Given the description of an element on the screen output the (x, y) to click on. 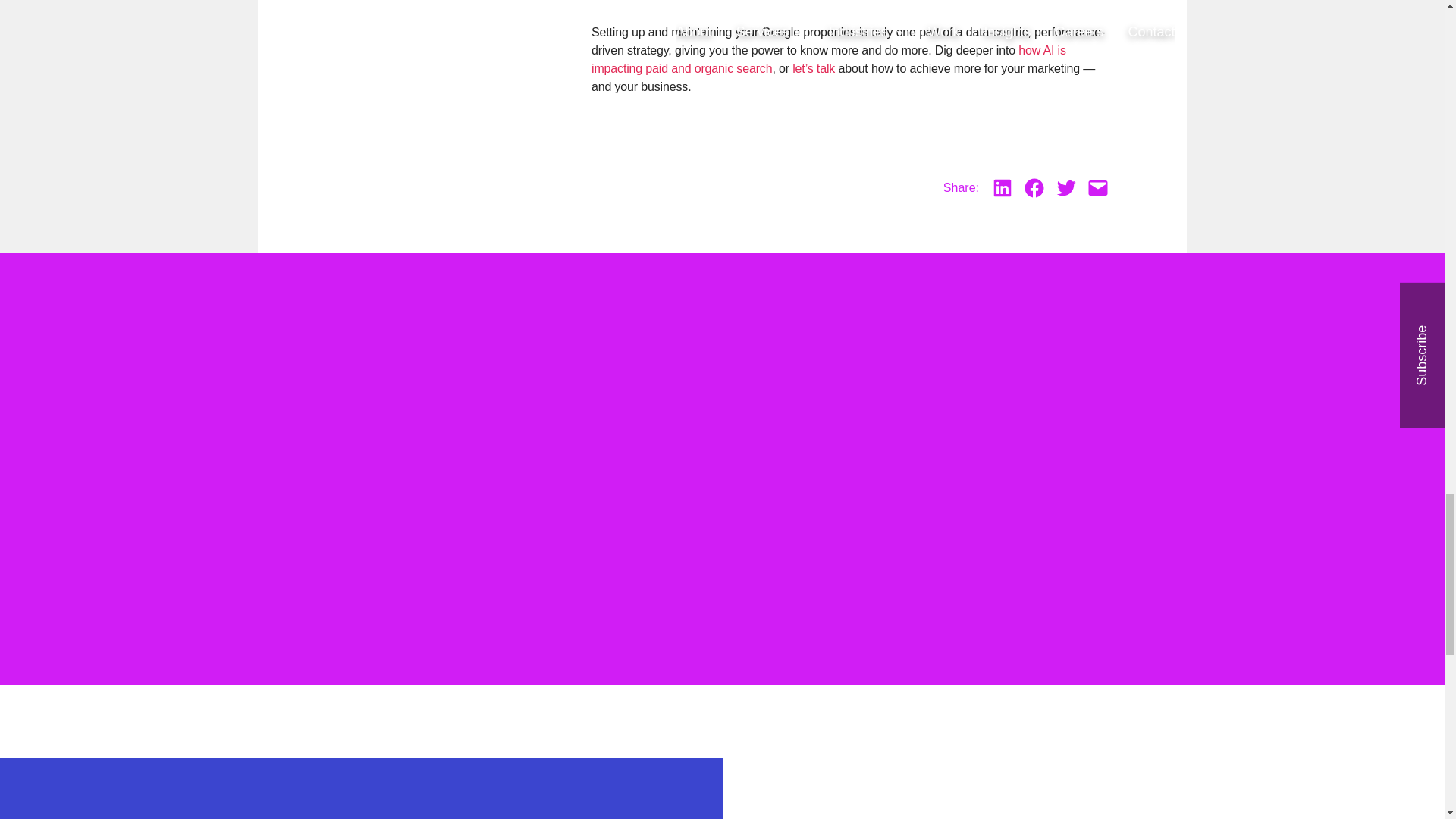
Share via Email (1097, 187)
Twitter (1065, 187)
Facebook (1034, 187)
LinkedIn (1002, 187)
